Given the description of an element on the screen output the (x, y) to click on. 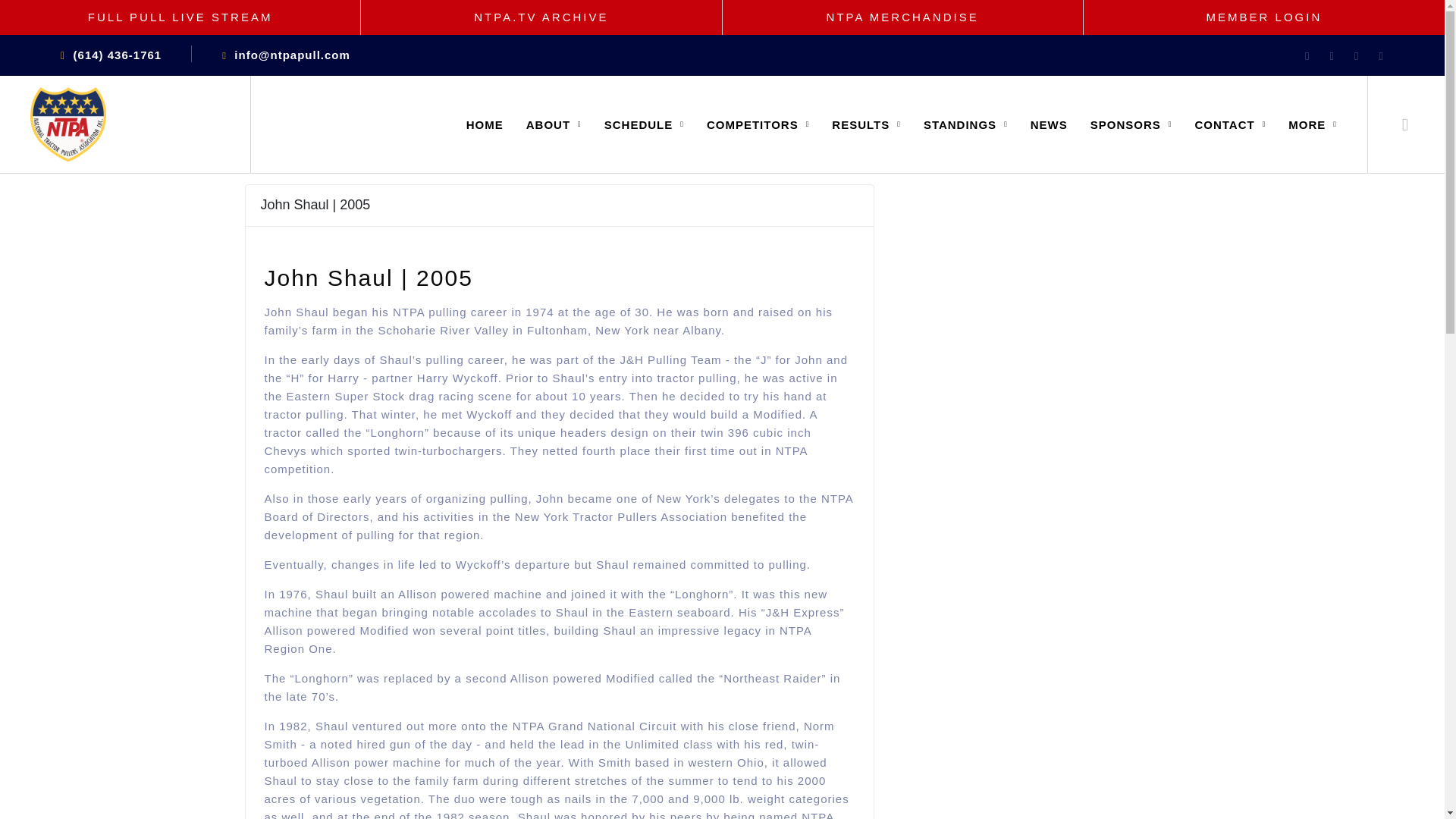
FULL PULL LIVE STREAM (180, 16)
NTPA MERCHANDISE (902, 16)
MEMBER LOGIN (1264, 16)
NTPA.TV ARCHIVE (541, 16)
